Given the description of an element on the screen output the (x, y) to click on. 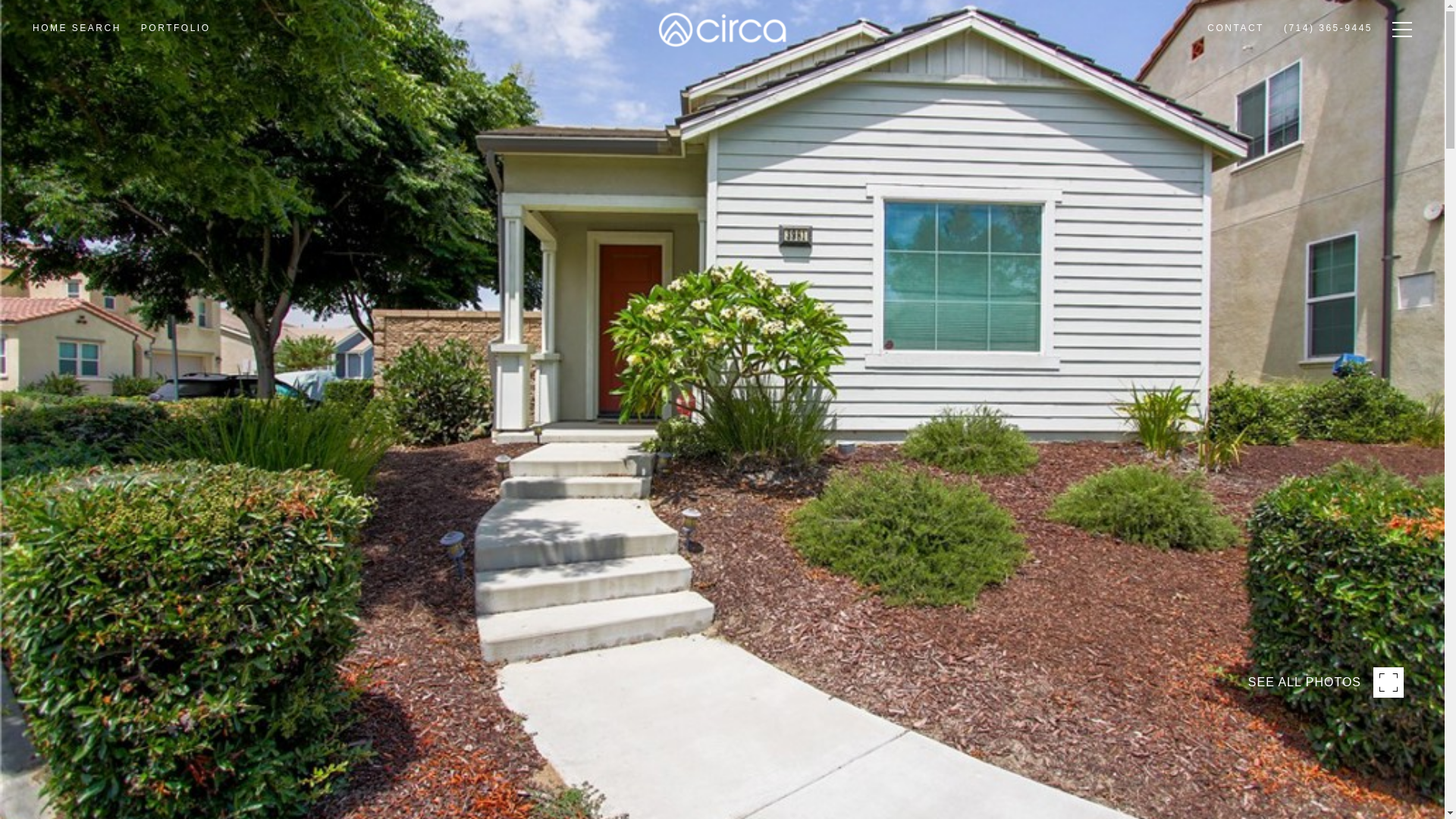
PORTFOLIO (176, 69)
CONTACT (1235, 65)
HOME SEARCH (77, 69)
